Given the description of an element on the screen output the (x, y) to click on. 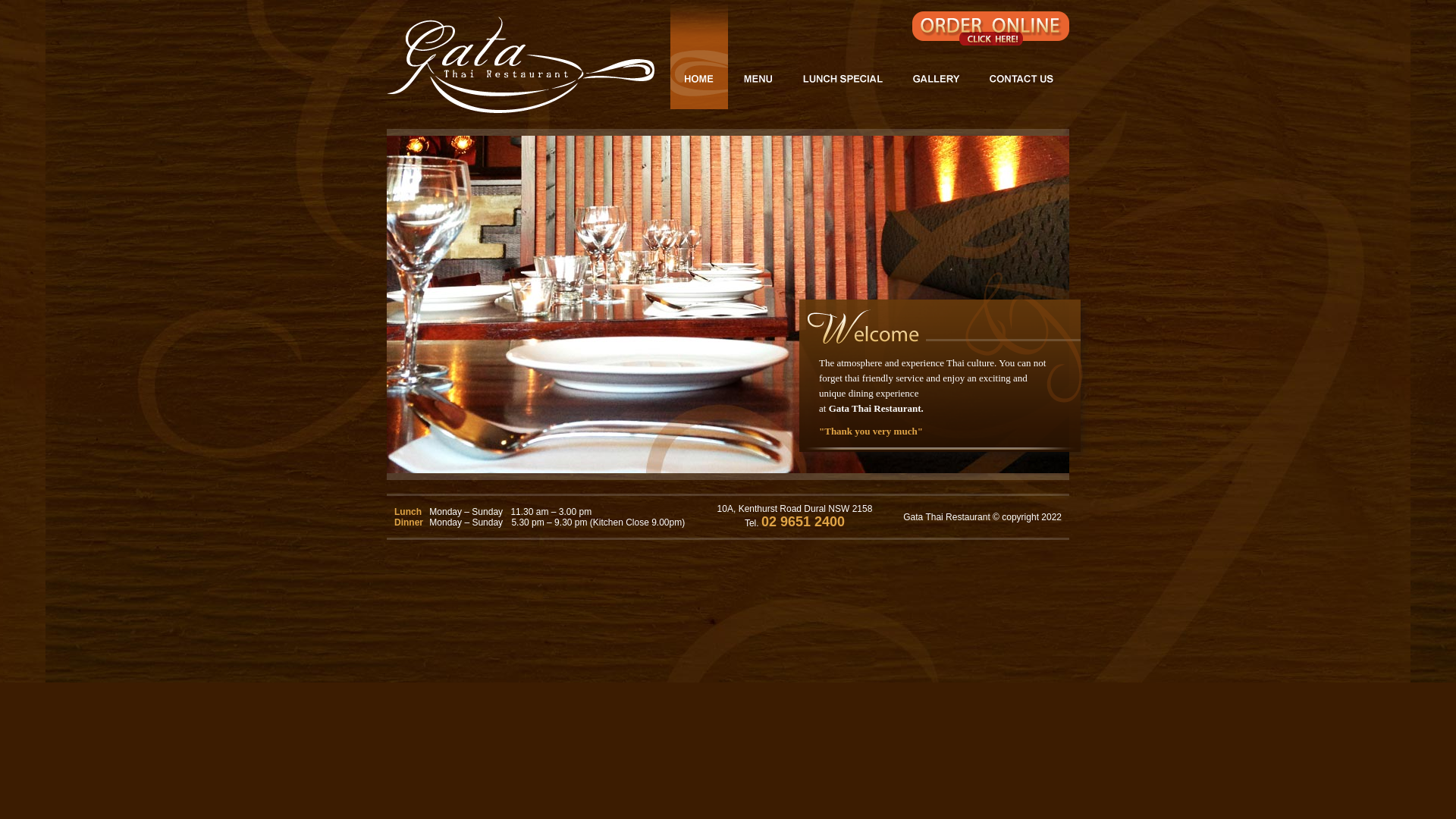
Gallery Element type: hover (934, 54)
Lunch Special Element type: hover (841, 54)
Contact Us Element type: hover (1021, 54)
Gata Thai Restaurant Element type: hover (520, 64)
Menu Element type: hover (757, 54)
Home Element type: hover (699, 54)
